Given the description of an element on the screen output the (x, y) to click on. 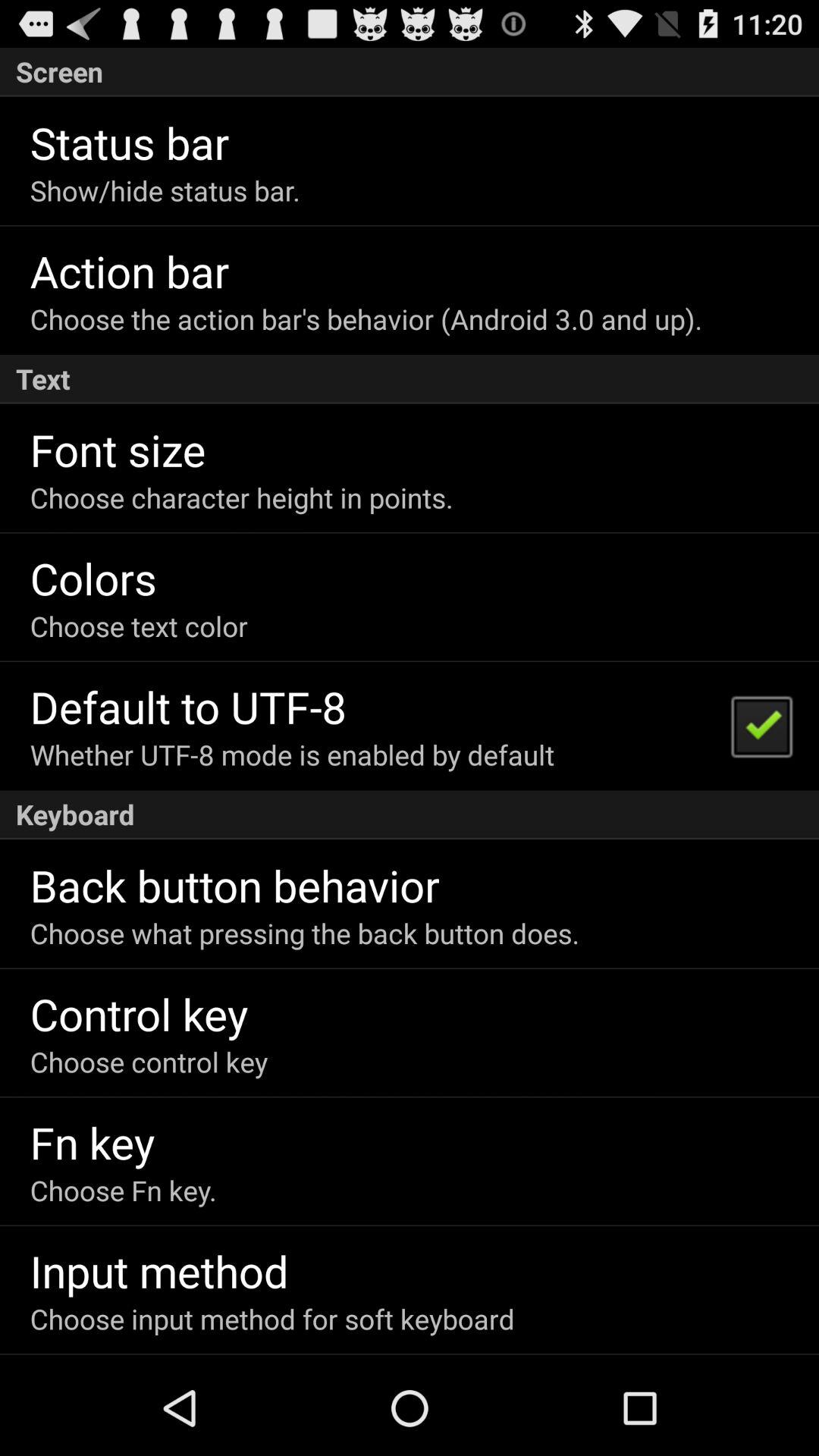
scroll until the choose text color (138, 625)
